Given the description of an element on the screen output the (x, y) to click on. 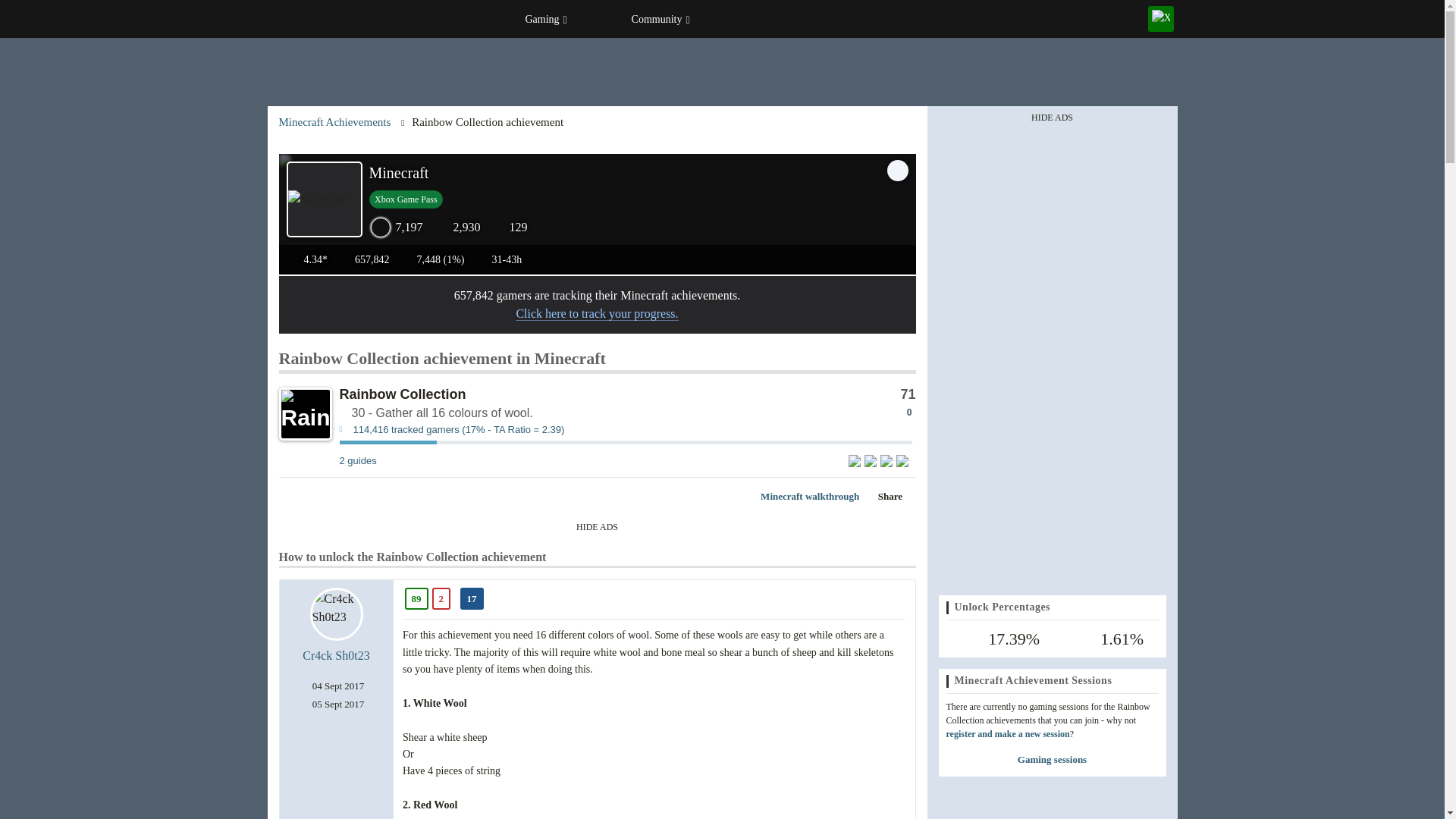
Maximum Gamerscore (456, 227)
Completed by 7,448 gamers (432, 258)
Maximum TrueAchievement (395, 227)
TrueAchievements (357, 18)
Gamers with achievement (625, 433)
Maximum achievements (509, 227)
How to unlock the Rainbow Collection achievement (358, 460)
